Given the description of an element on the screen output the (x, y) to click on. 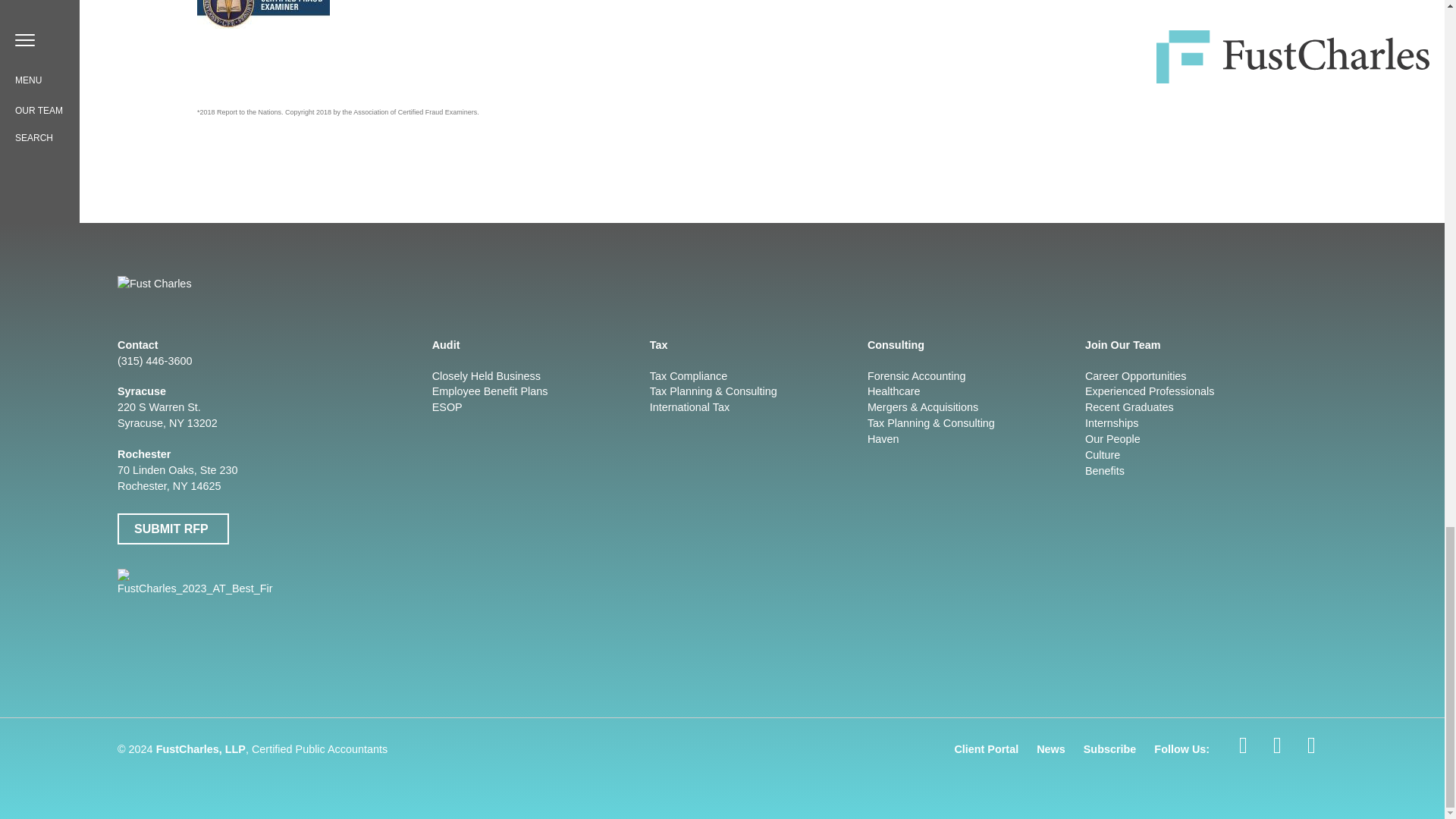
Join Our Team (1122, 345)
ESOP (525, 407)
Tax Compliance (743, 376)
Healthcare (960, 391)
Haven (960, 439)
Recent Graduates (1198, 407)
Closely Held Business (525, 376)
Career Opportunities (1198, 376)
Consulting (895, 345)
International Tax (743, 407)
